Given the description of an element on the screen output the (x, y) to click on. 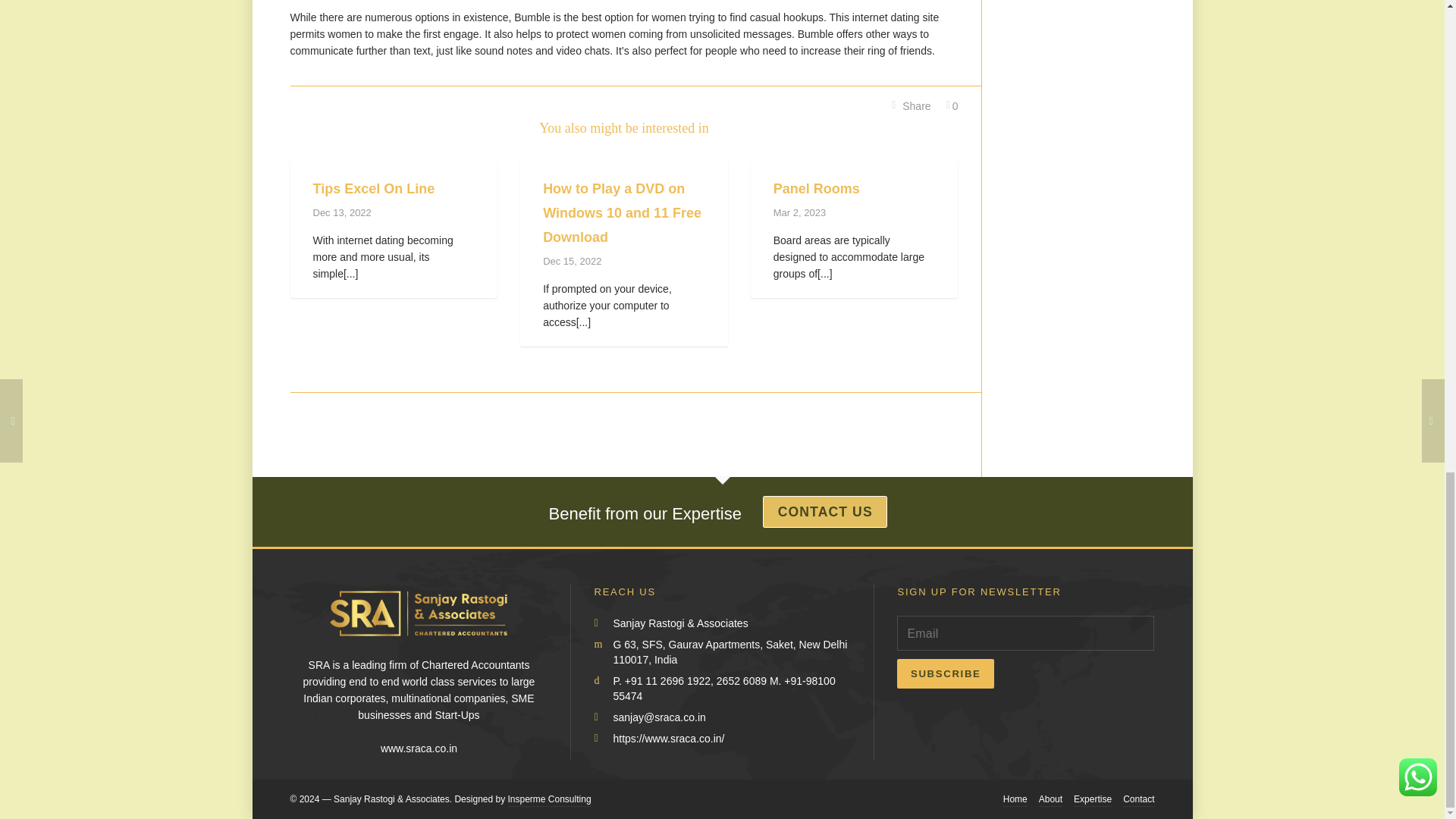
Tips Excel On Line (373, 188)
Like this post. What is the Best Online Dating Site? (952, 105)
Panel Rooms (816, 188)
Subscribe (859, 510)
How to Play a DVD on Windows 10 and 11 Free Download (622, 212)
